Given the description of an element on the screen output the (x, y) to click on. 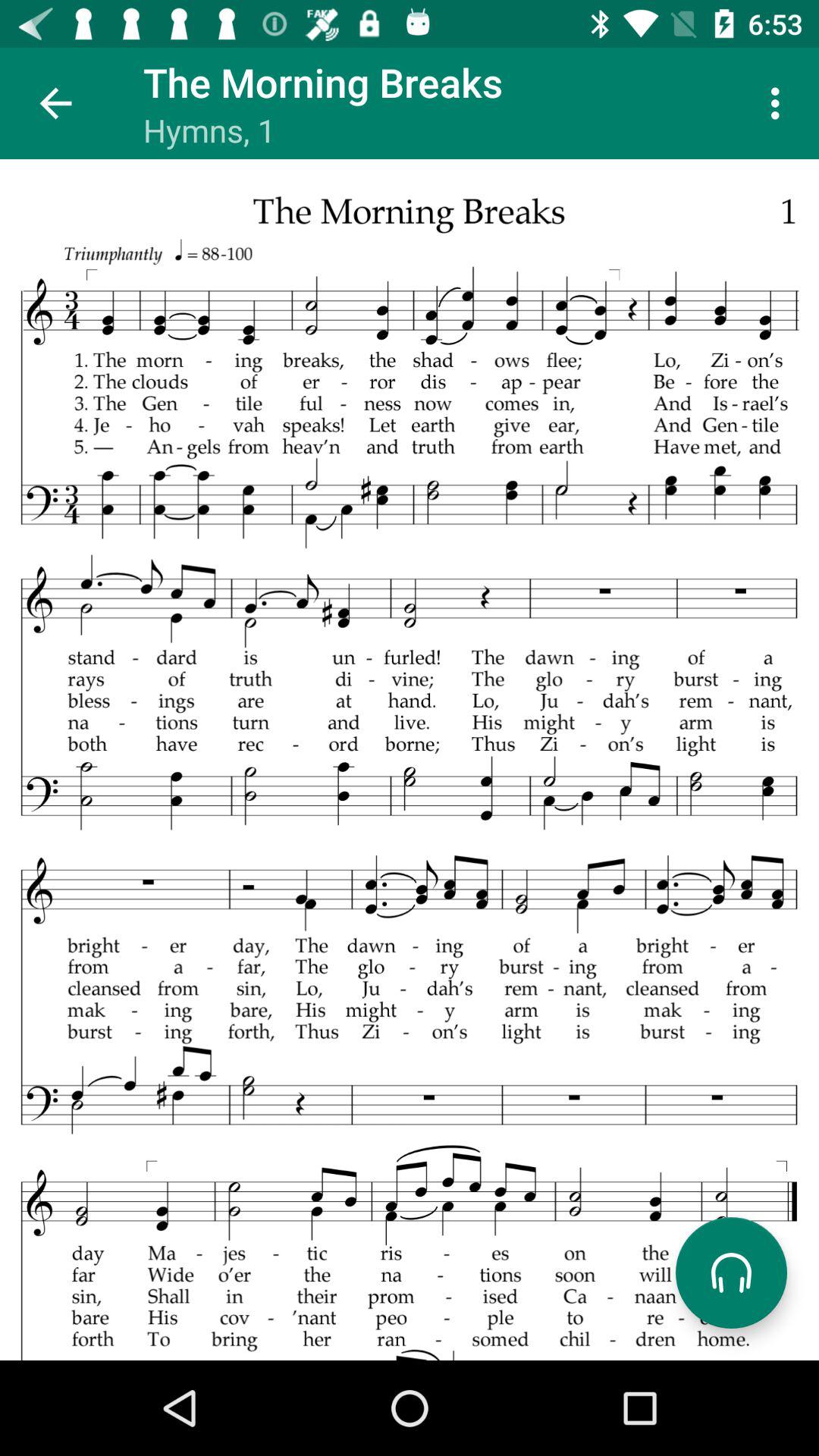
headphone (731, 1272)
